Given the description of an element on the screen output the (x, y) to click on. 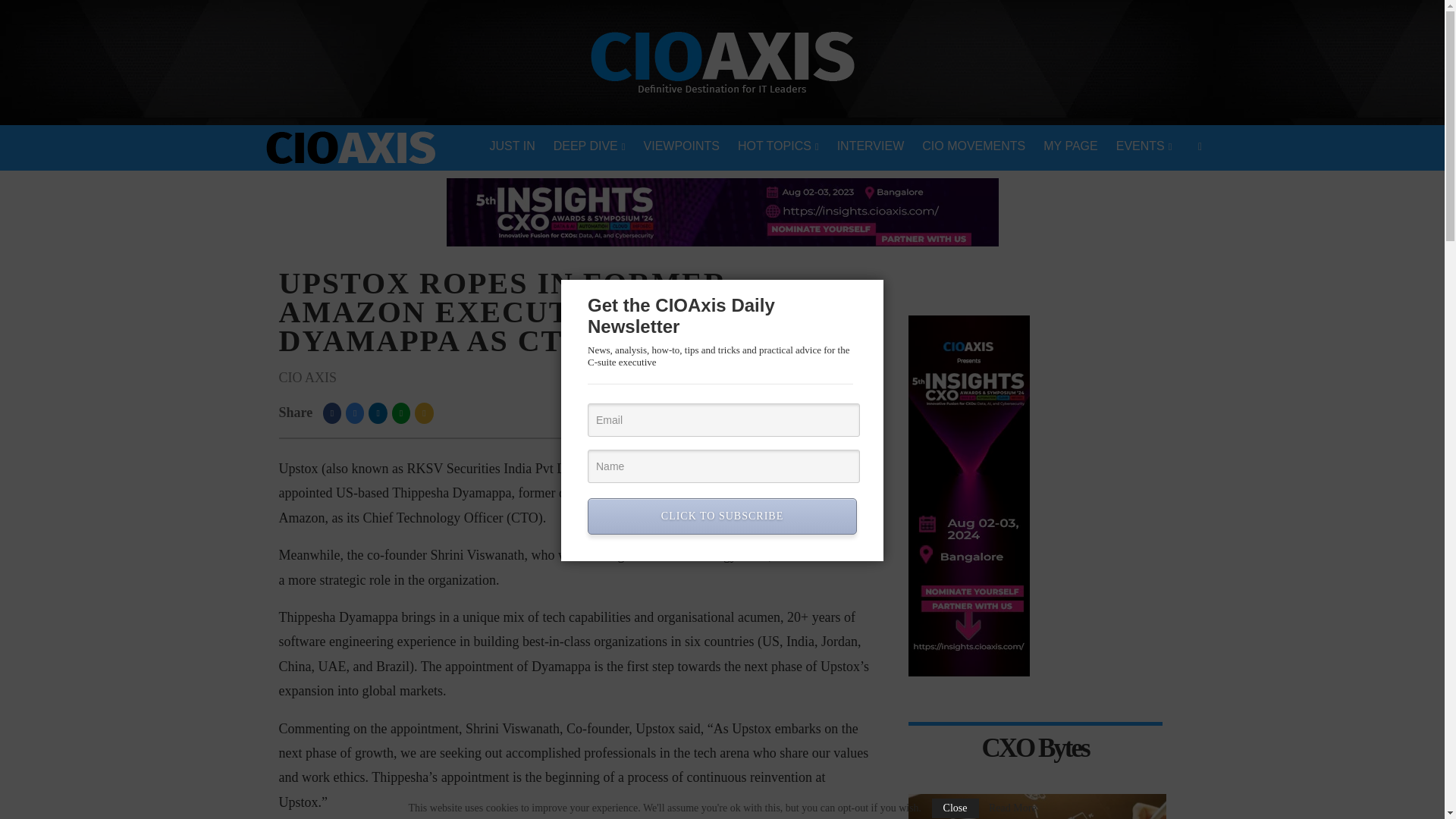
INTERVIEW (871, 146)
VIEWPOINTS (681, 146)
DEEP DIVE (589, 146)
CIO MOVEMENTS (972, 146)
Email (724, 419)
Name (724, 466)
EVENTS (1143, 146)
HOT TOPICS (778, 146)
CIO AXIS (308, 377)
JUST IN (512, 146)
MY PAGE (1069, 146)
